Given the description of an element on the screen output the (x, y) to click on. 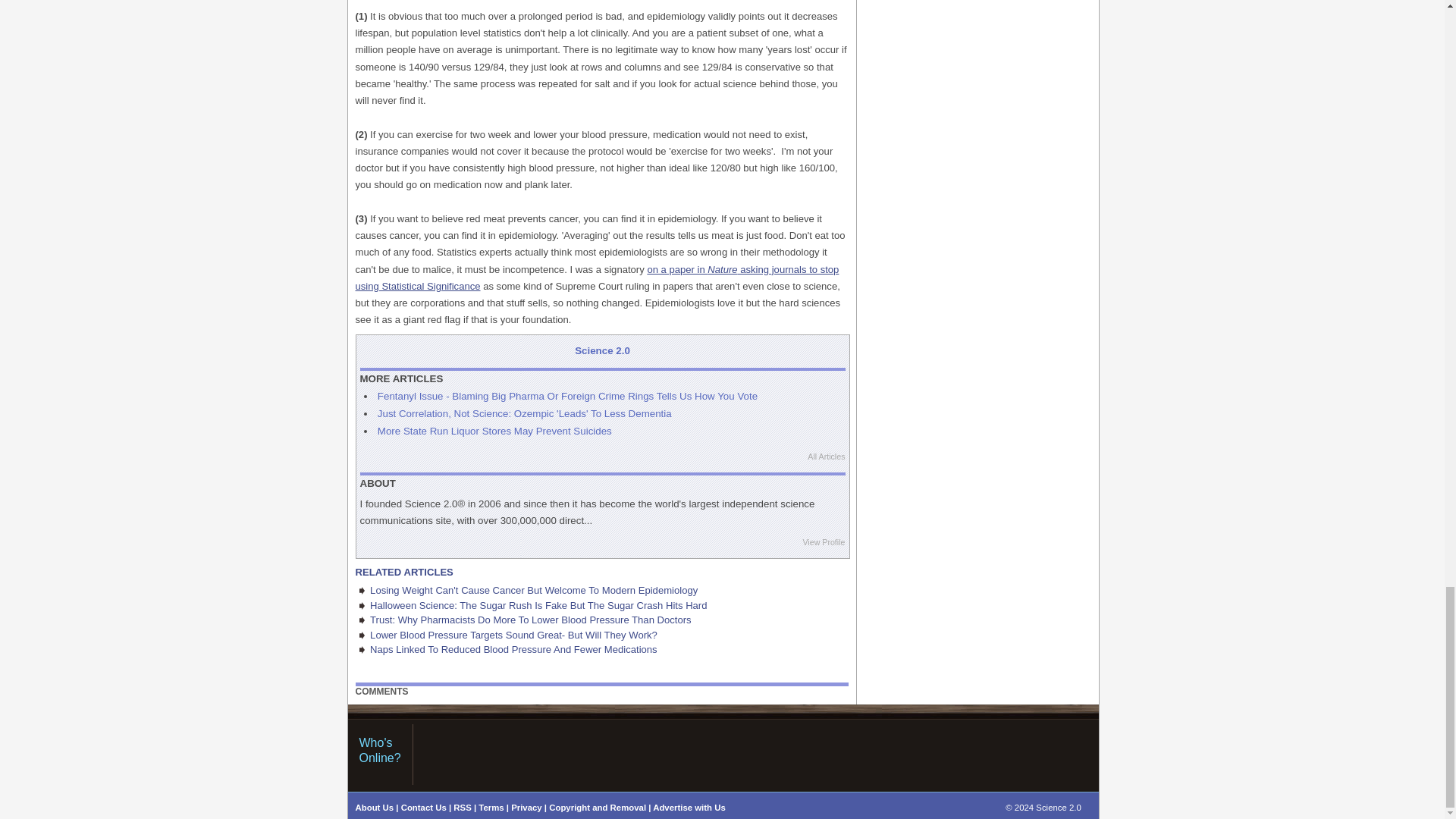
Your Rights to Privacy. (526, 807)
Our Terms of Use. (491, 807)
Copyright Terms. (597, 807)
